Given the description of an element on the screen output the (x, y) to click on. 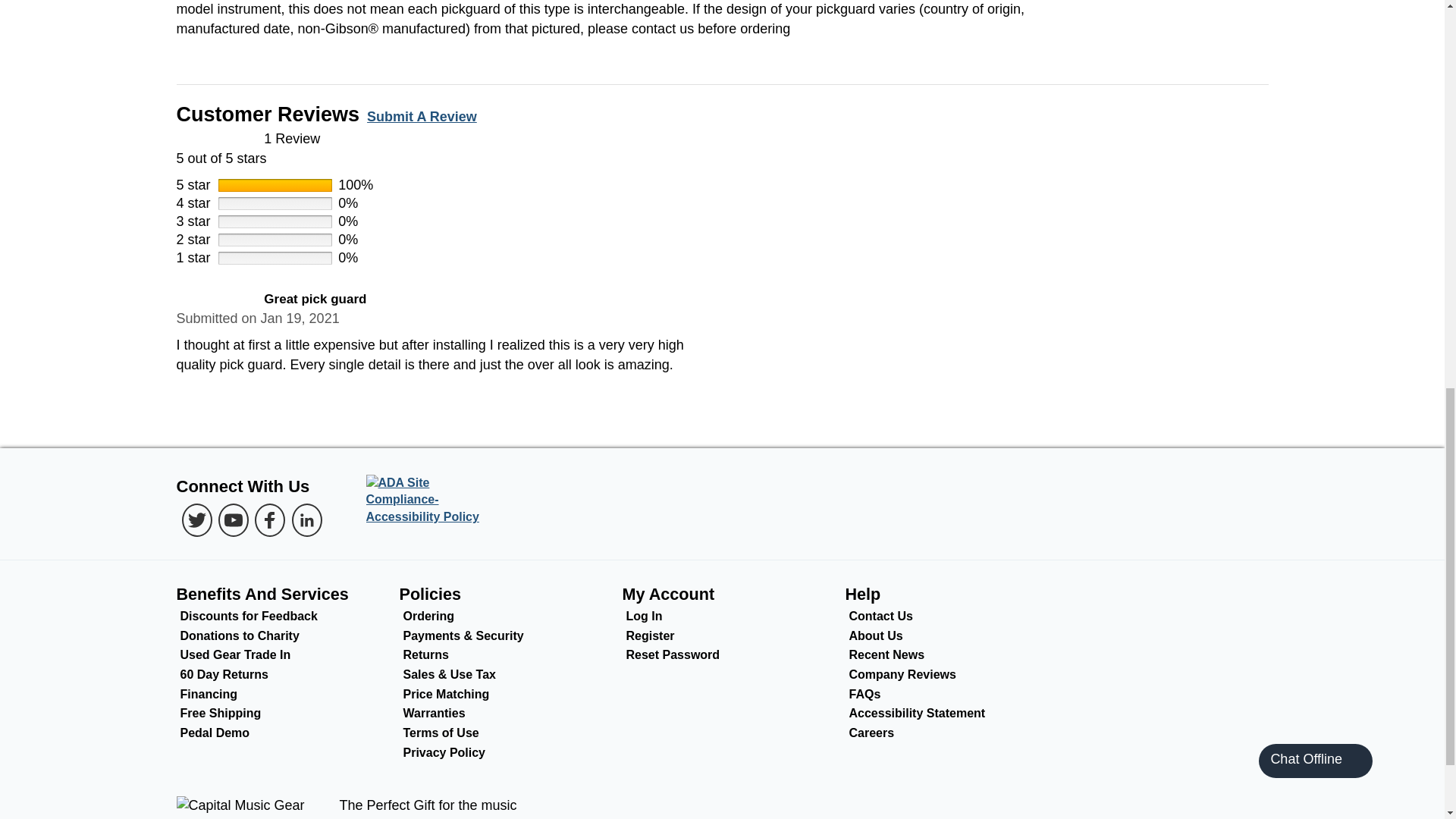
Our Linkedin Page - Opens in new Tab (306, 520)
Our Facebook Page - Opens in new Tab (269, 520)
5 out of 5 (216, 299)
Our Youtube Page - Opens in new Tab (233, 520)
ADA Site Compliance-Accessibility Policy - Opens in new tab (427, 501)
Our Twitter Page - Opens in new Tab (197, 520)
5 out of 5 (722, 148)
